Given the description of an element on the screen output the (x, y) to click on. 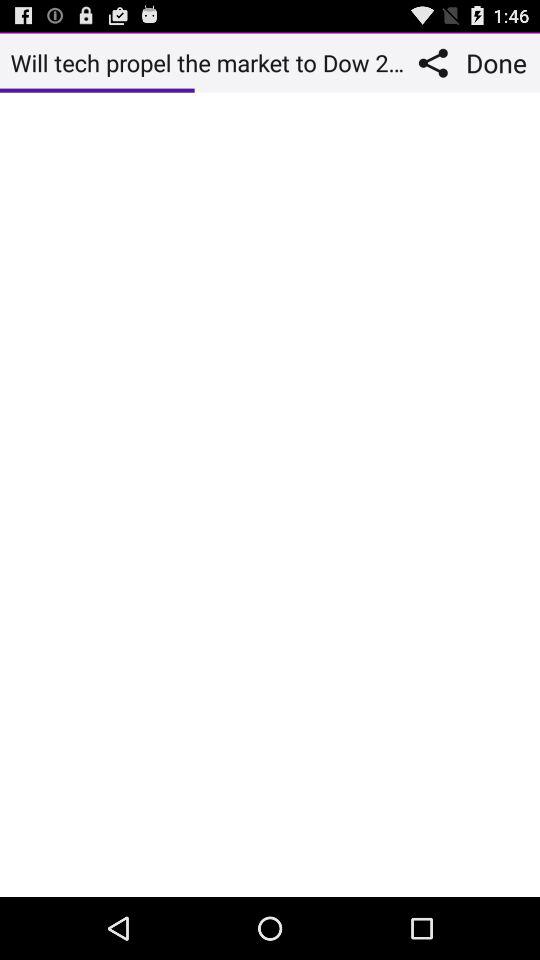
open icon at the center (270, 494)
